Given the description of an element on the screen output the (x, y) to click on. 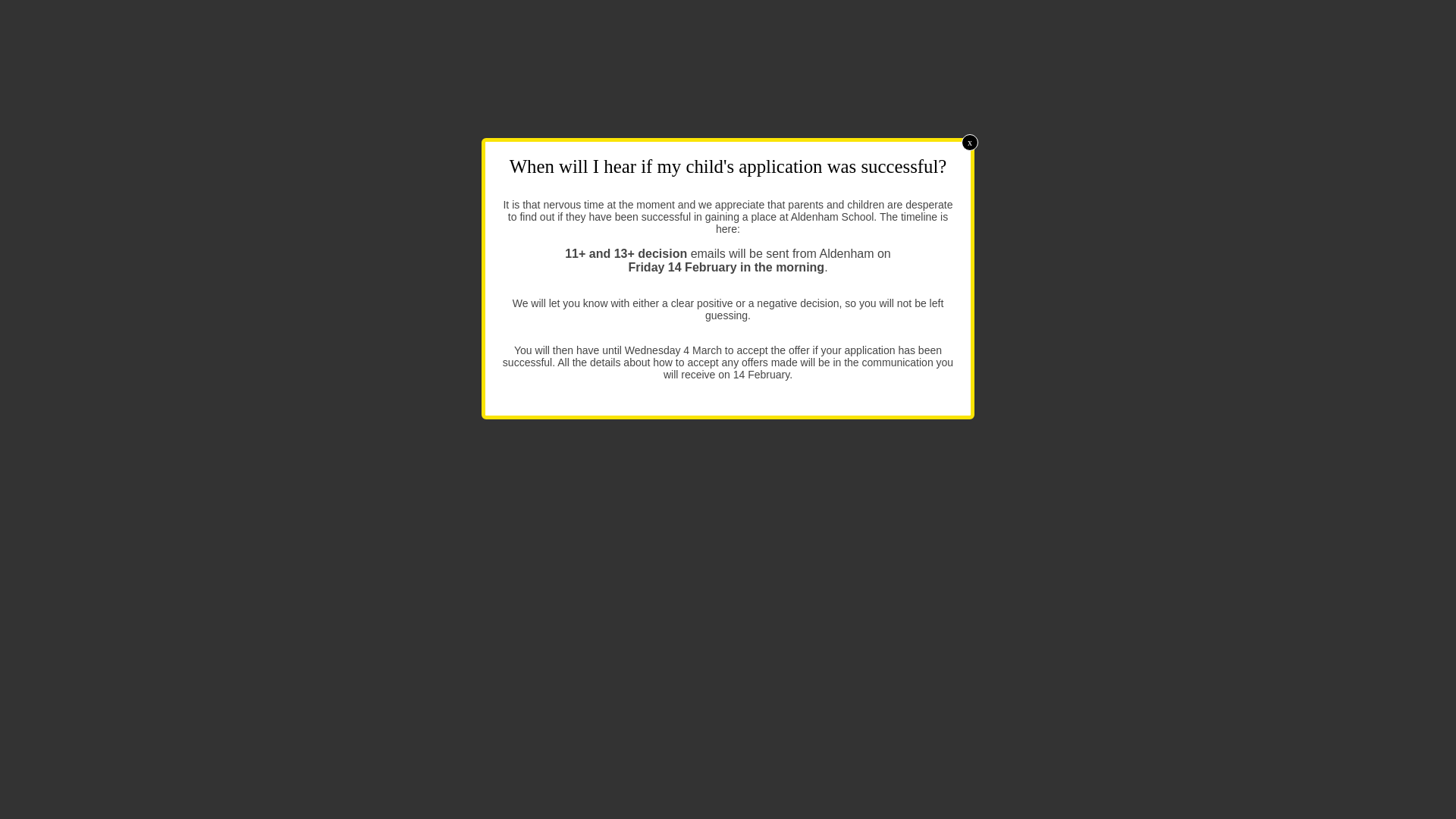
x (969, 142)
Close (969, 142)
